Given the description of an element on the screen output the (x, y) to click on. 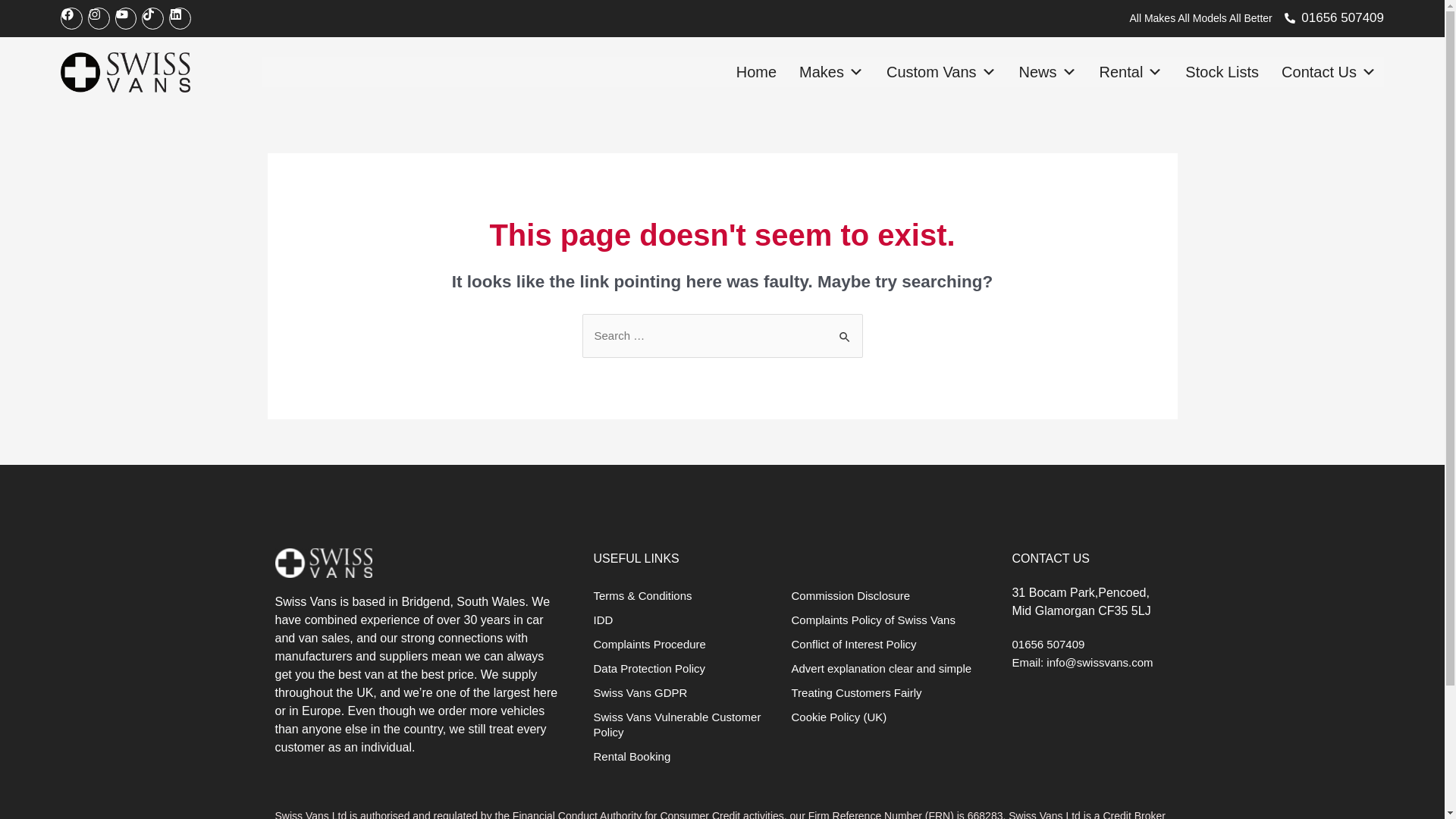
01656 507409 (1334, 18)
Home (756, 71)
Search (844, 328)
Makes (831, 71)
Search (844, 328)
